Given the description of an element on the screen output the (x, y) to click on. 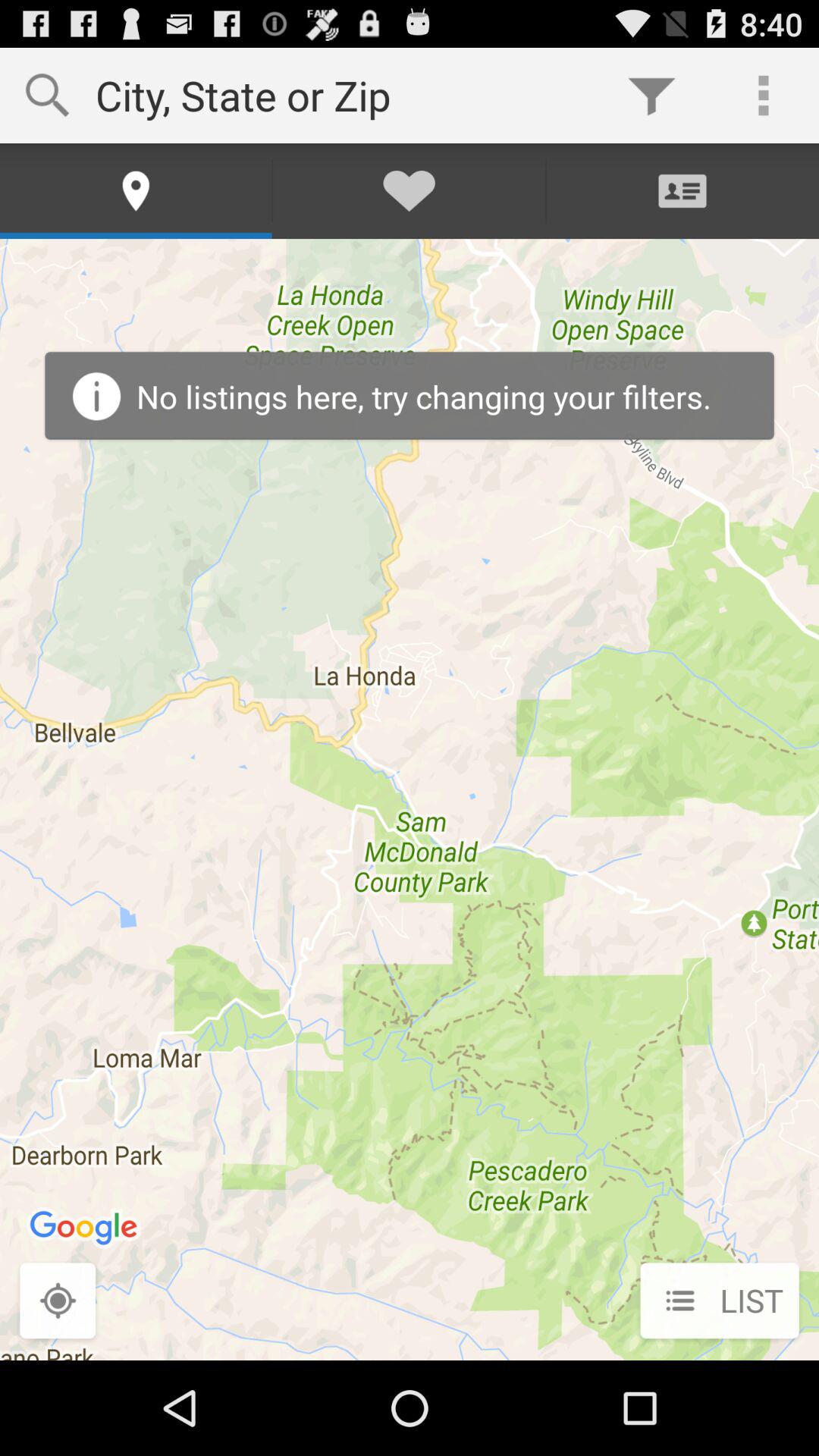
press the icon next to the list item (57, 1302)
